Given the description of an element on the screen output the (x, y) to click on. 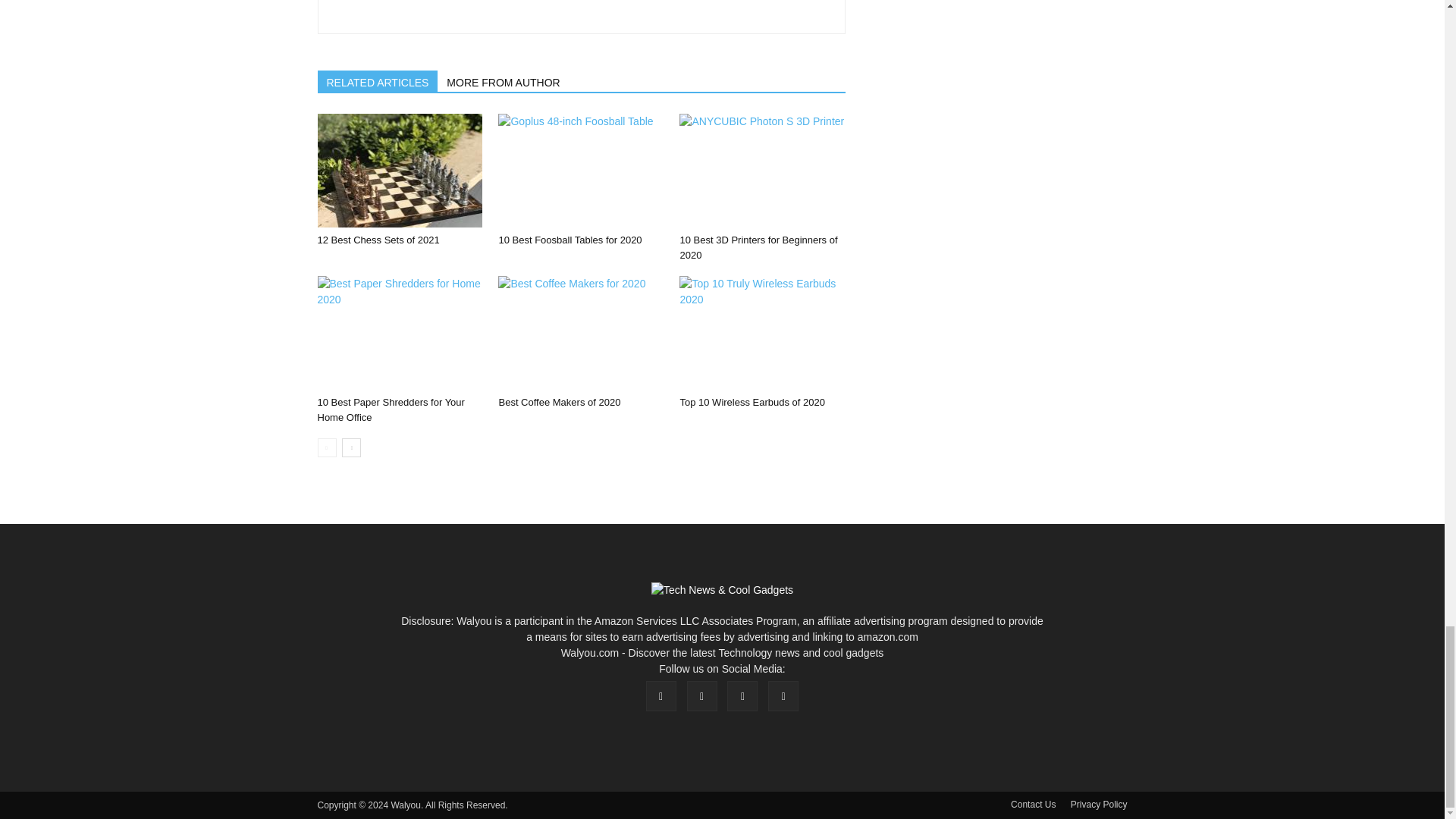
10 Best 3D Printers for Beginners of 2020 (761, 170)
12 Best Chess Sets of 2021 (399, 170)
10 Best Foosball Tables for 2020 (569, 239)
10 Best Foosball Tables for 2020 (580, 170)
12 Best Chess Sets of 2021 (378, 239)
